Given the description of an element on the screen output the (x, y) to click on. 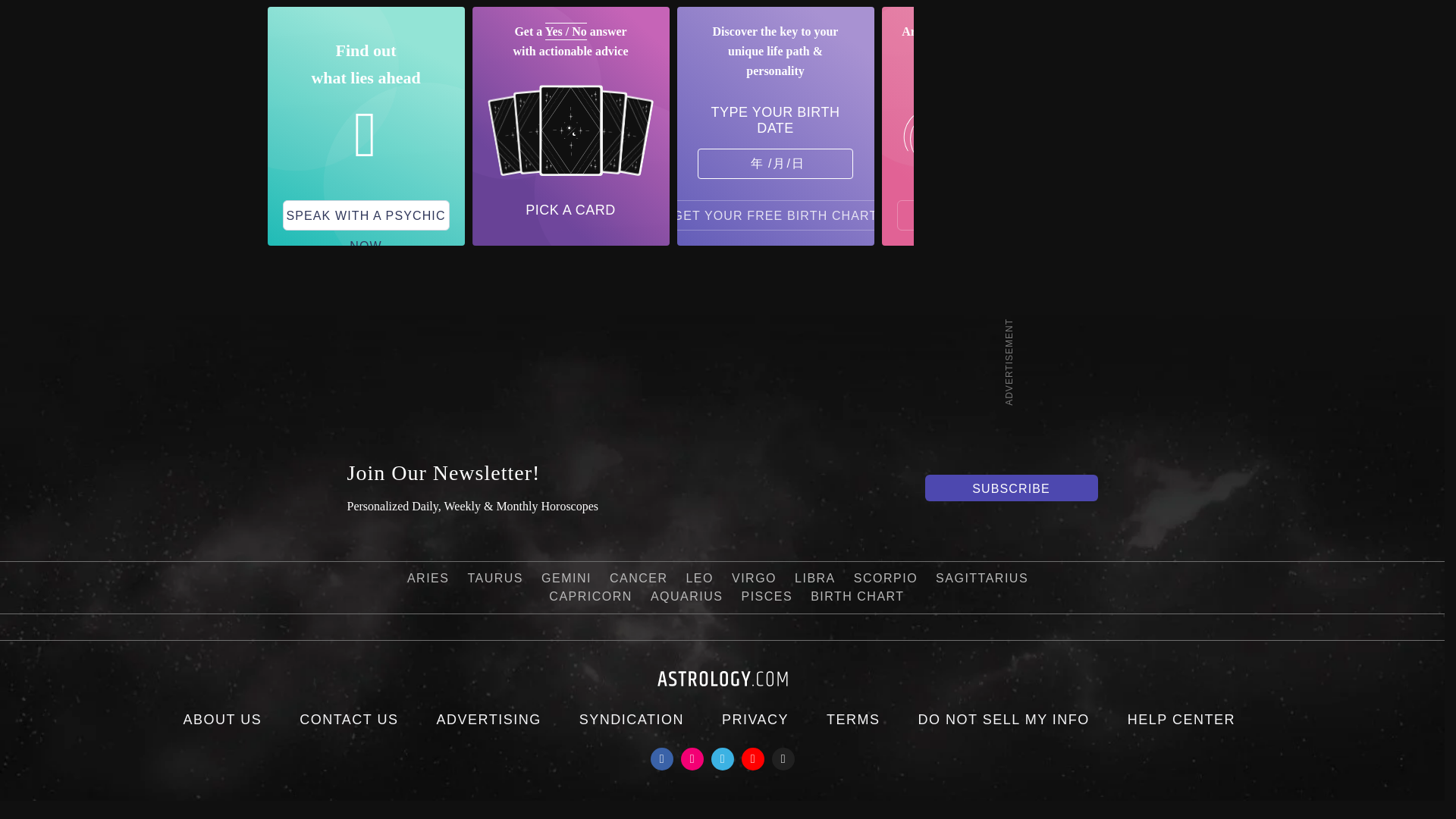
Get your free birth chart (775, 214)
